Given the description of an element on the screen output the (x, y) to click on. 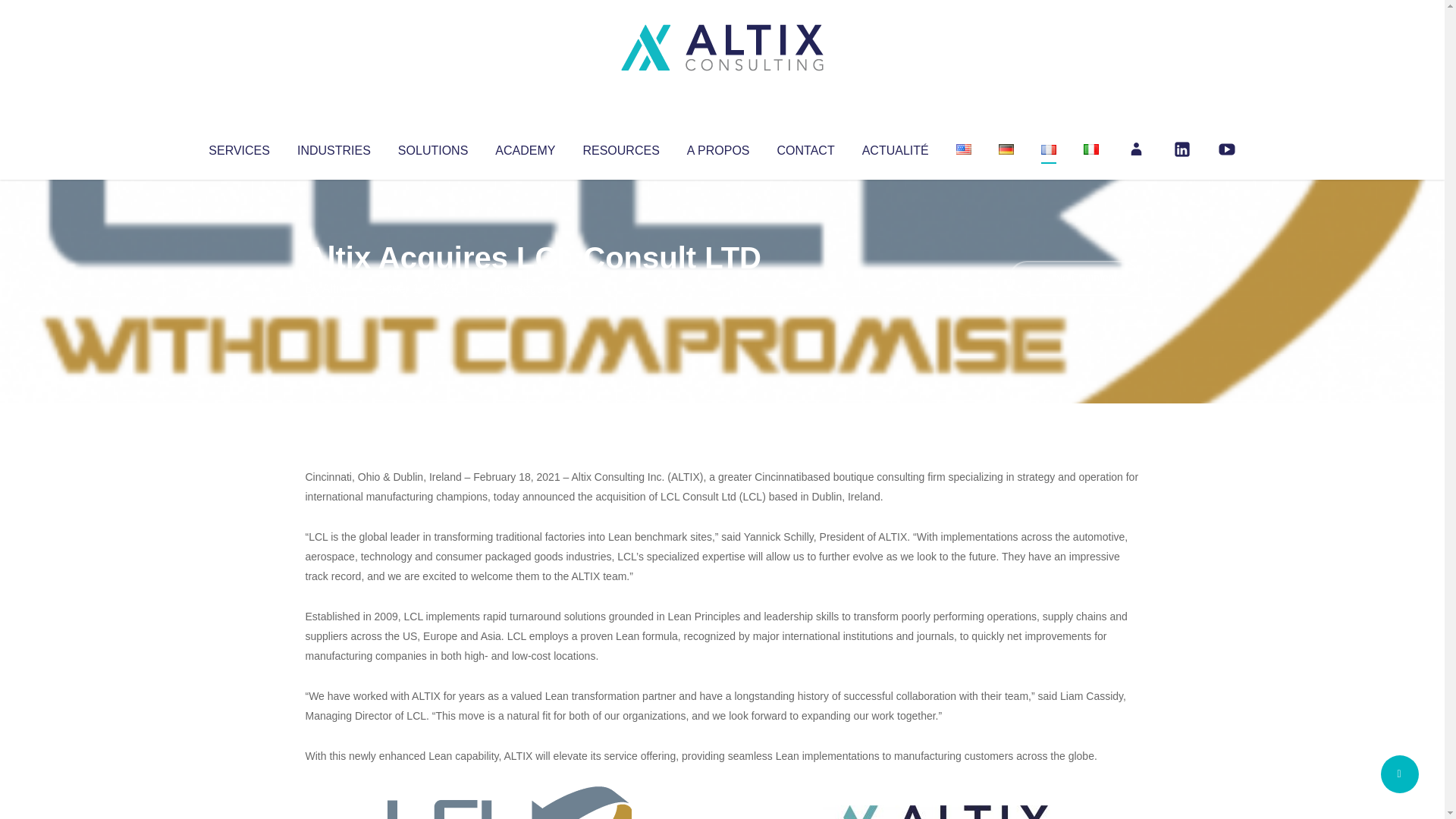
RESOURCES (620, 146)
ACADEMY (524, 146)
INDUSTRIES (334, 146)
SERVICES (238, 146)
A PROPOS (718, 146)
No Comments (1073, 278)
Uncategorized (530, 287)
SOLUTIONS (432, 146)
Articles par Altix (333, 287)
Altix (333, 287)
